Given the description of an element on the screen output the (x, y) to click on. 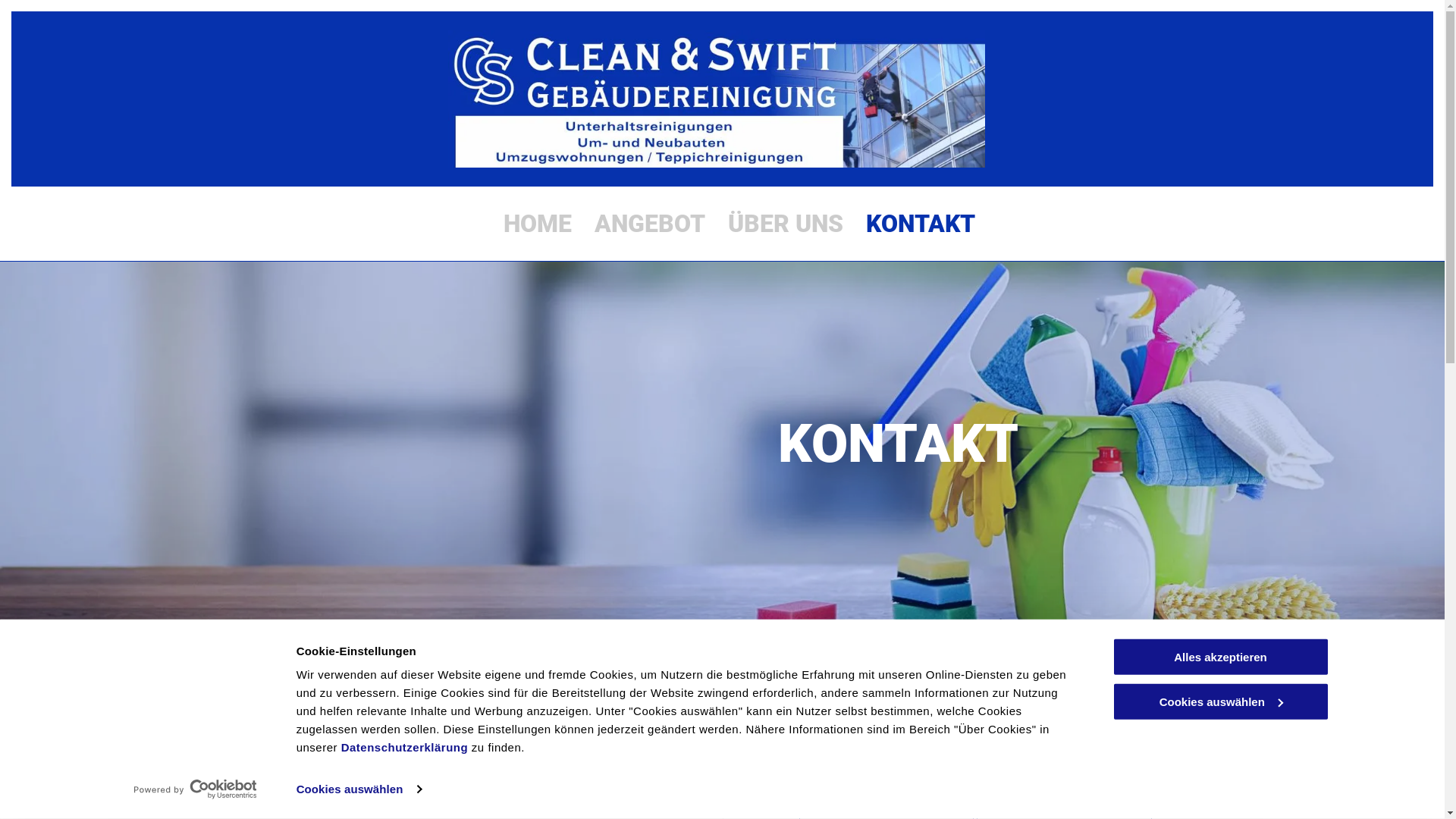
KONTAKT Element type: text (920, 223)
ANGEBOT Element type: text (649, 223)
Alles akzeptieren Element type: text (1219, 656)
HOME Element type: text (537, 223)
